Given the description of an element on the screen output the (x, y) to click on. 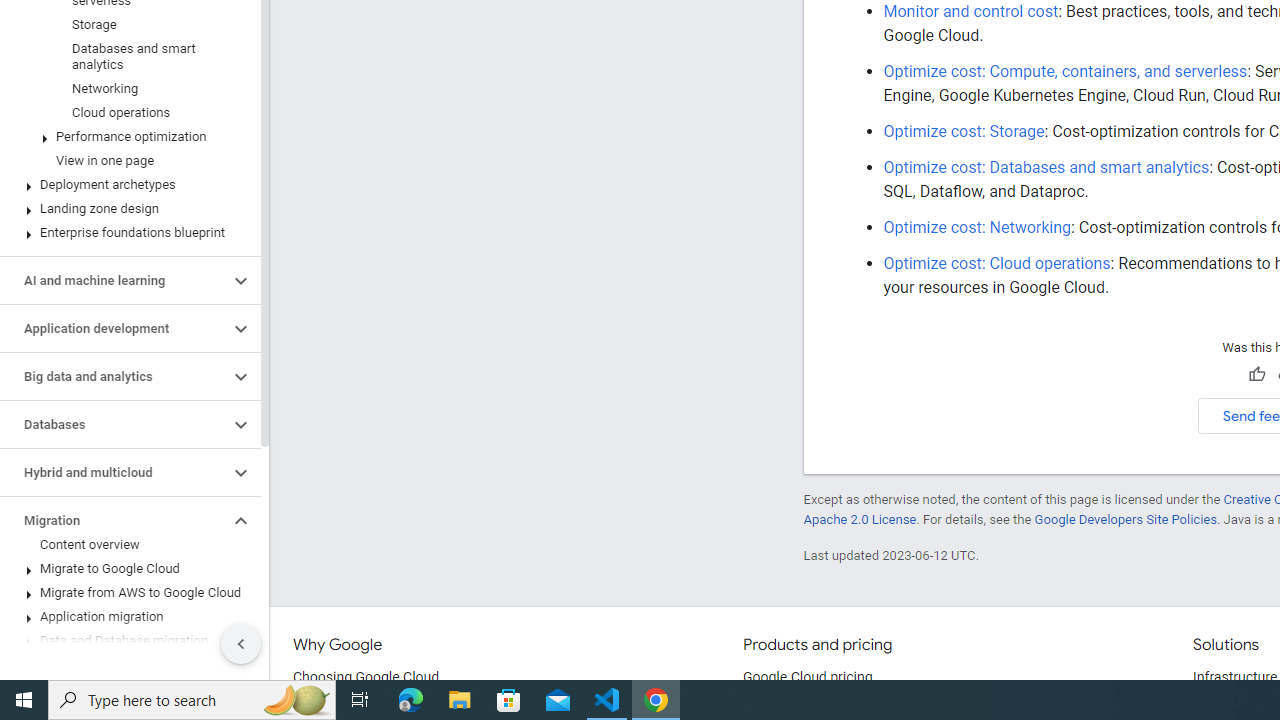
Hybrid and multicloud (114, 472)
Migrate to Google Cloud (126, 569)
Optimize cost: Compute, containers, and serverless (1065, 70)
Databases and smart analytics (126, 56)
Optimize cost: Storage (963, 131)
Performance optimization (126, 137)
Optimize cost: Cloud operations (997, 263)
Application migration (126, 616)
Optimize cost: Databases and smart analytics (1046, 167)
Google Developers Site Policies (1125, 519)
Monitoring and logging (114, 688)
Cloud operations (126, 112)
Big data and analytics (114, 376)
Migration (114, 520)
